Given the description of an element on the screen output the (x, y) to click on. 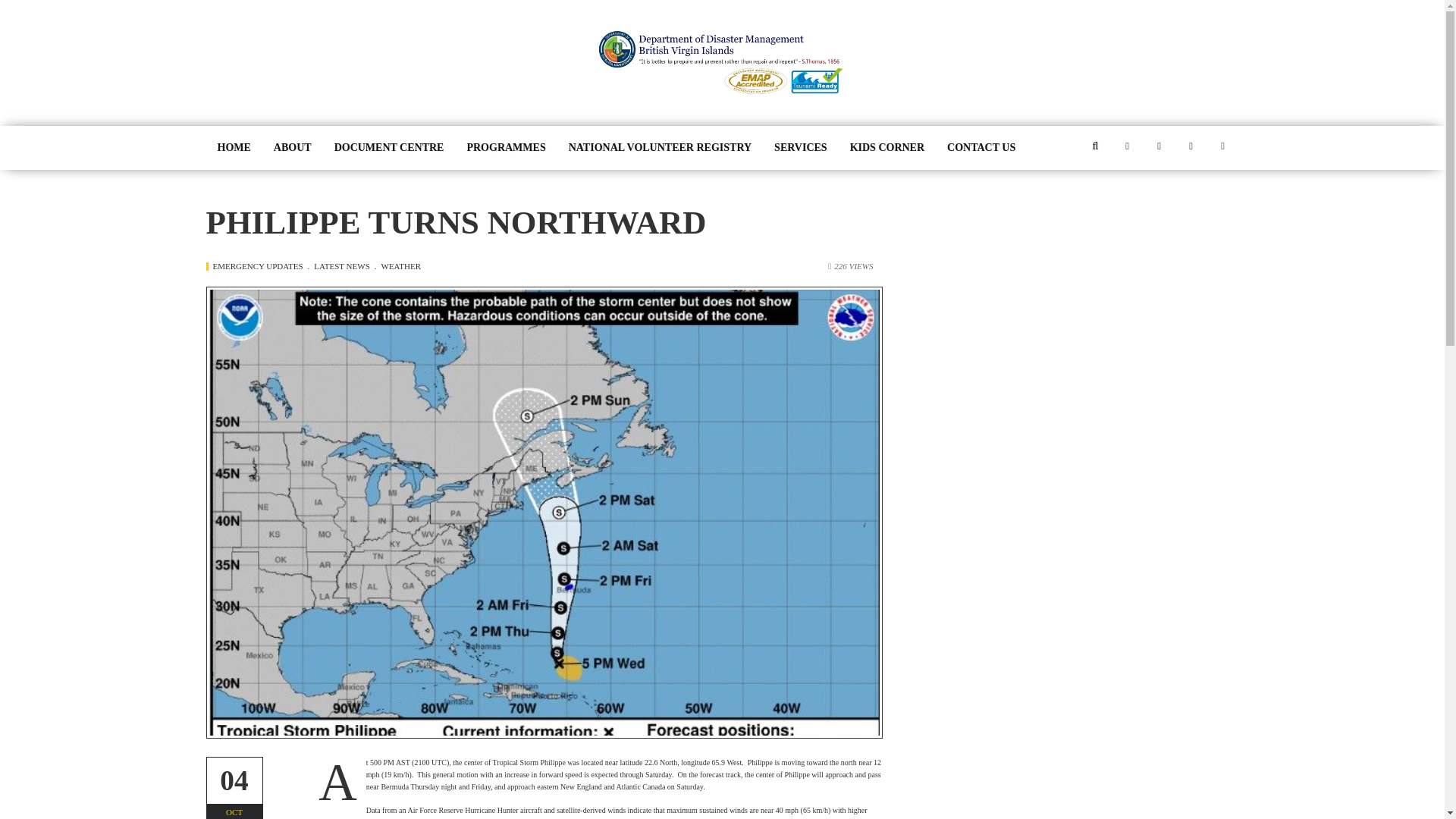
Weather (401, 266)
ABOUT (292, 147)
Emergency Updates (260, 266)
HOME (234, 147)
Latest News (344, 266)
